Given the description of an element on the screen output the (x, y) to click on. 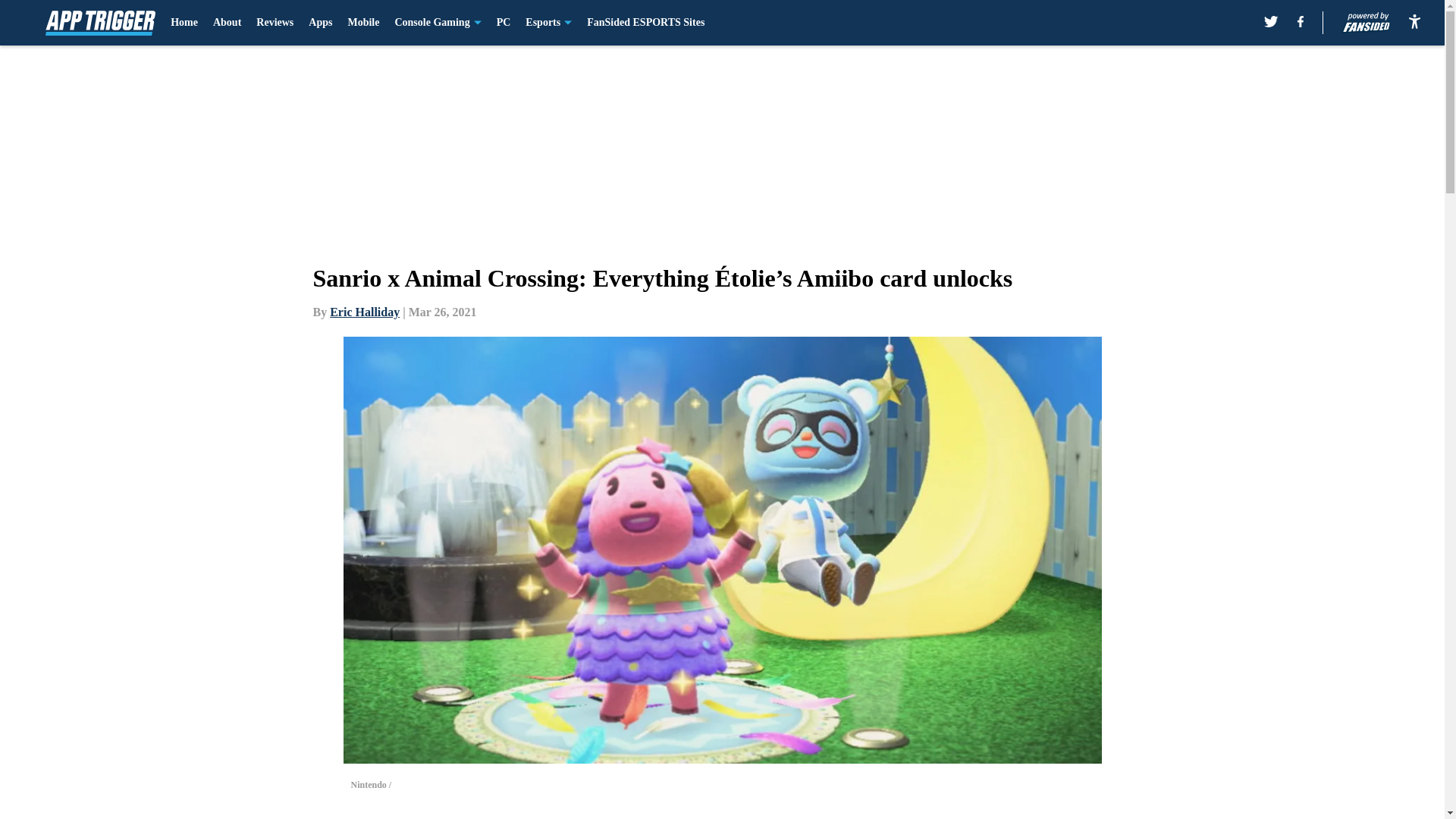
Reviews (275, 22)
Mobile (362, 22)
Home (184, 22)
Eric Halliday (364, 311)
PC (503, 22)
FanSided ESPORTS Sites (645, 22)
About (226, 22)
Apps (319, 22)
